Given the description of an element on the screen output the (x, y) to click on. 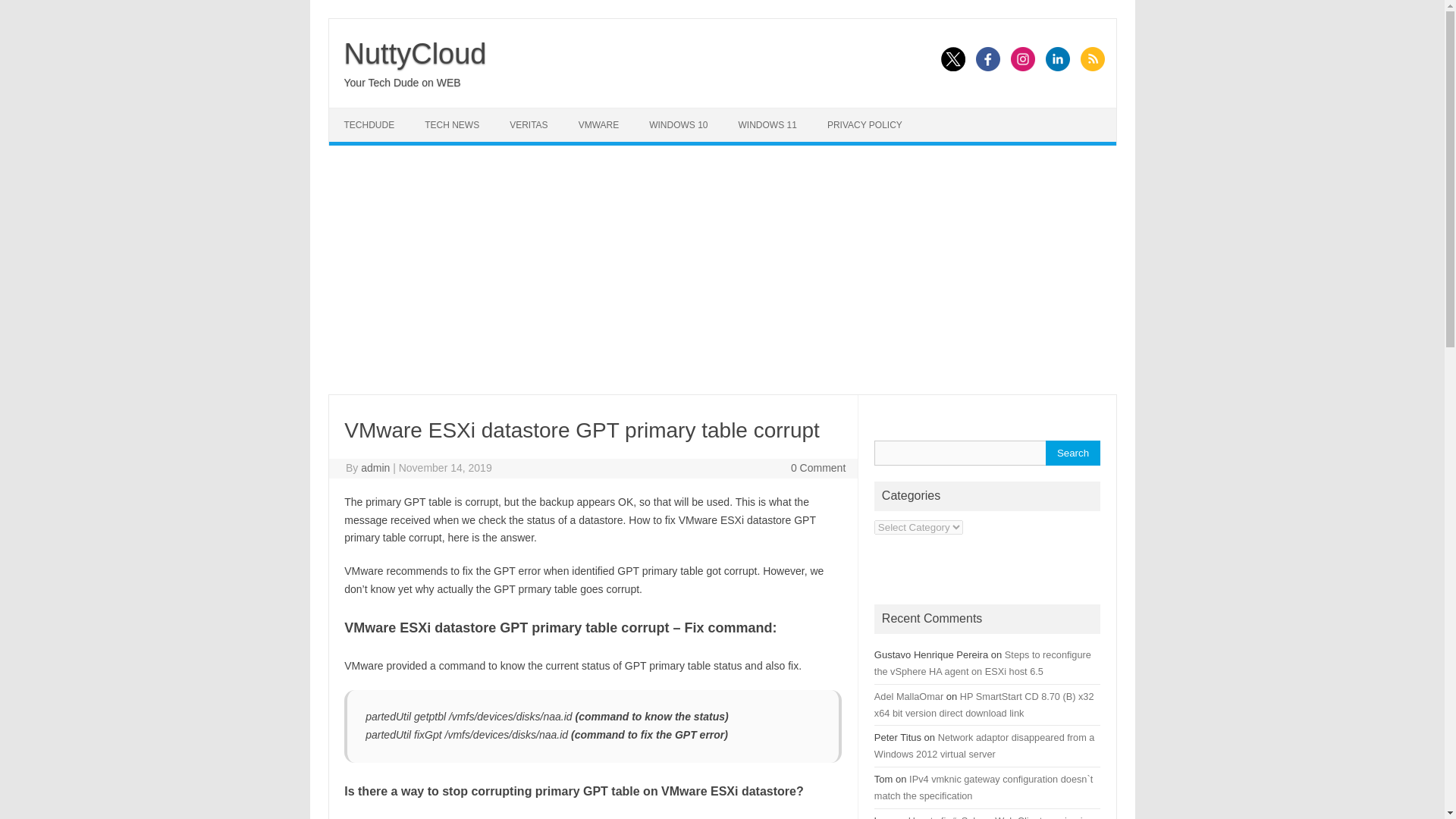
TECHDUDE (369, 124)
Posts by admin (375, 467)
Search (1072, 453)
WINDOWS 11 (767, 124)
WINDOWS 10 (677, 124)
NuttyCloud (414, 53)
admin (375, 467)
PRIVACY POLICY (864, 124)
VERITAS (528, 124)
